Given the description of an element on the screen output the (x, y) to click on. 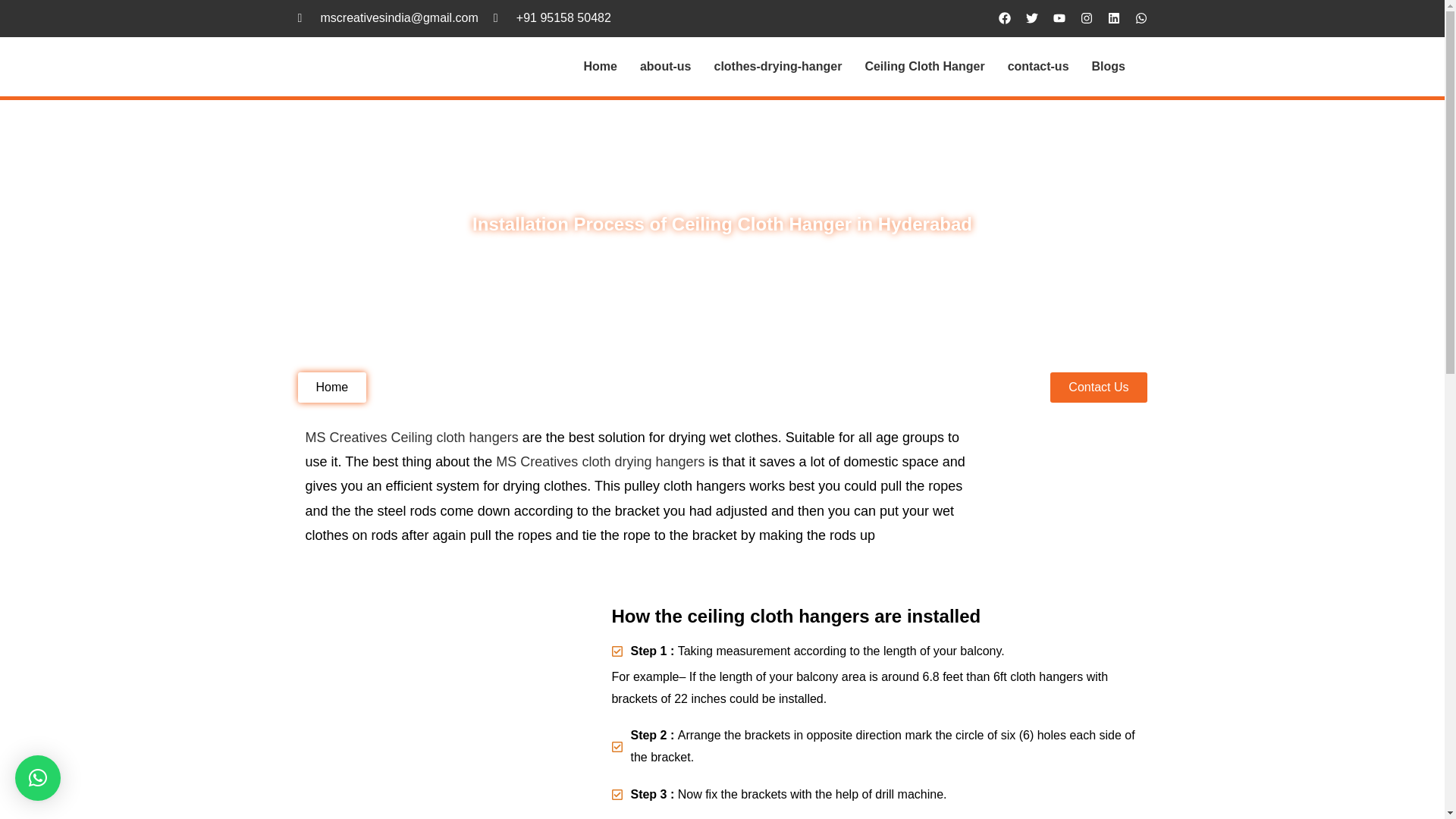
Ceiling Cloth Hanger (924, 66)
Blogs (1108, 66)
MS Creatives (537, 461)
cloth drying hangers (642, 461)
about-us (665, 66)
Home (599, 66)
Ceiling cloth hangers (454, 437)
MS Creatives (345, 437)
Contact Us (1098, 387)
Home (331, 387)
